Given the description of an element on the screen output the (x, y) to click on. 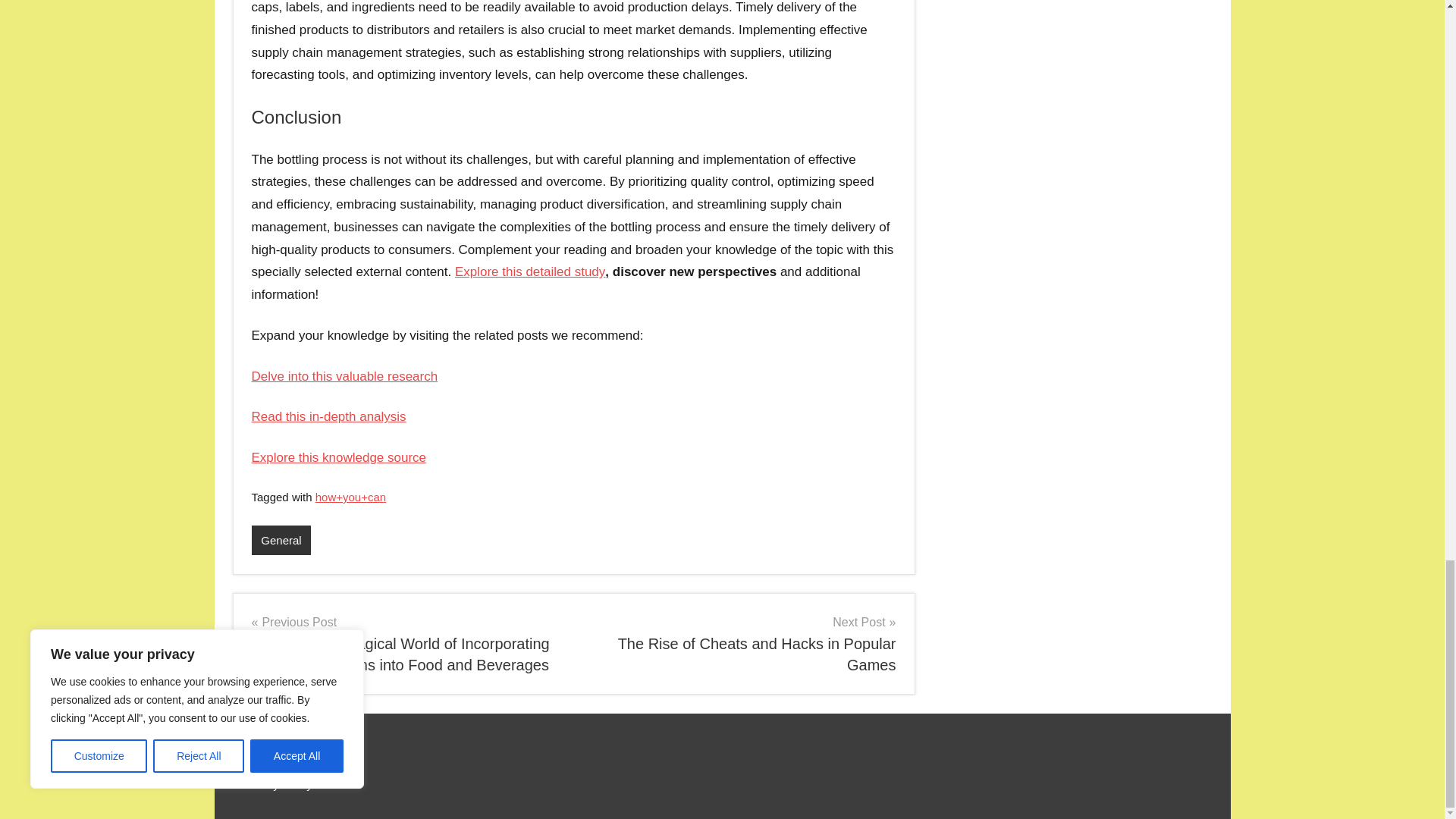
General (281, 540)
Delve into this valuable research (740, 643)
Explore this knowledge source (344, 376)
Explore this detailed study (338, 457)
Read this in-depth analysis (529, 271)
